Given the description of an element on the screen output the (x, y) to click on. 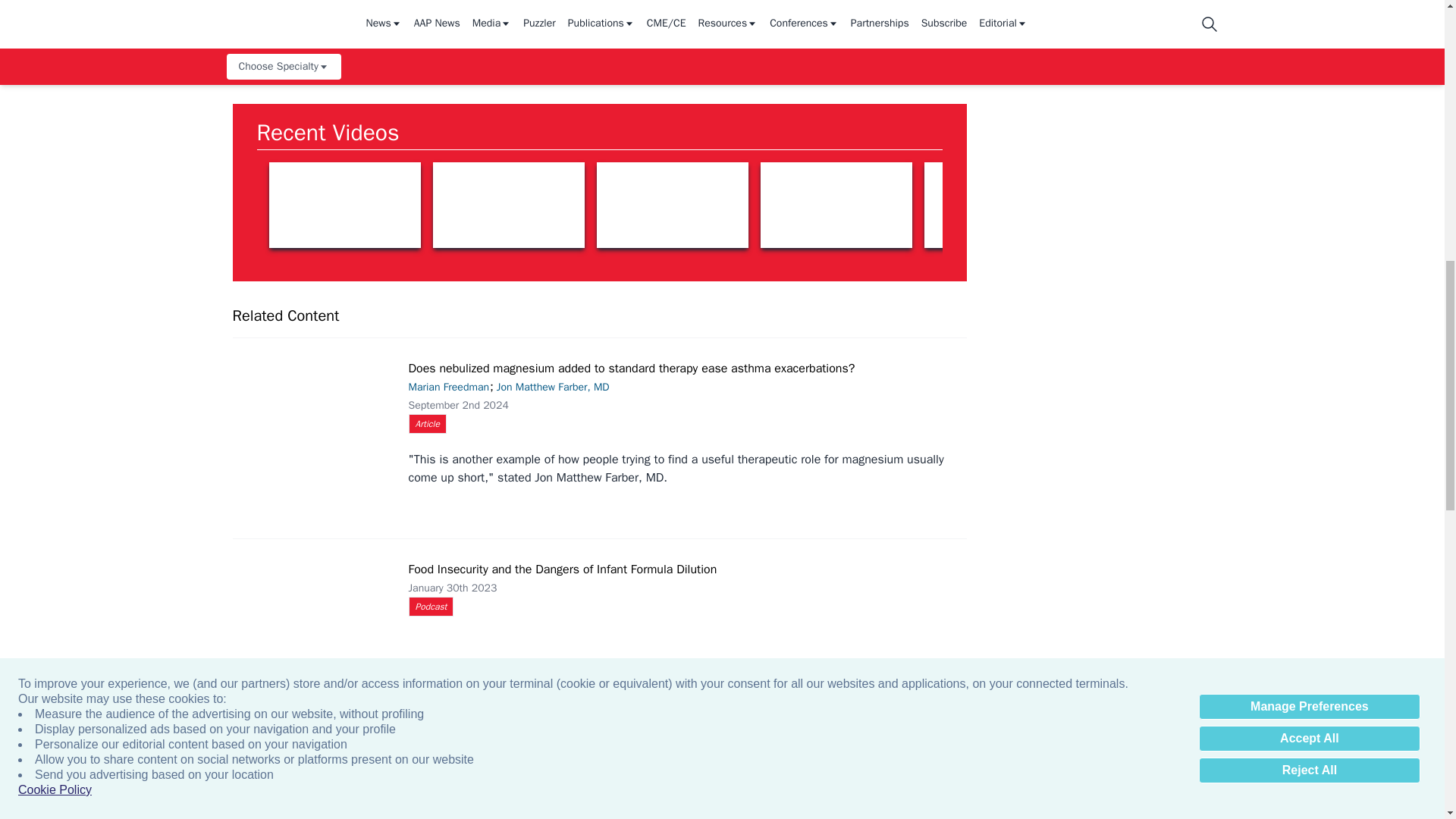
3 KOLs are featured in this series. (835, 205)
3 KOLs are featured in this series. (343, 205)
Lynn Malec, MD (671, 205)
3 KOLs are featured in this series. (507, 205)
3 KOLs are featured in this series. (1163, 205)
Lynn Malec, MD (1326, 205)
